Given the description of an element on the screen output the (x, y) to click on. 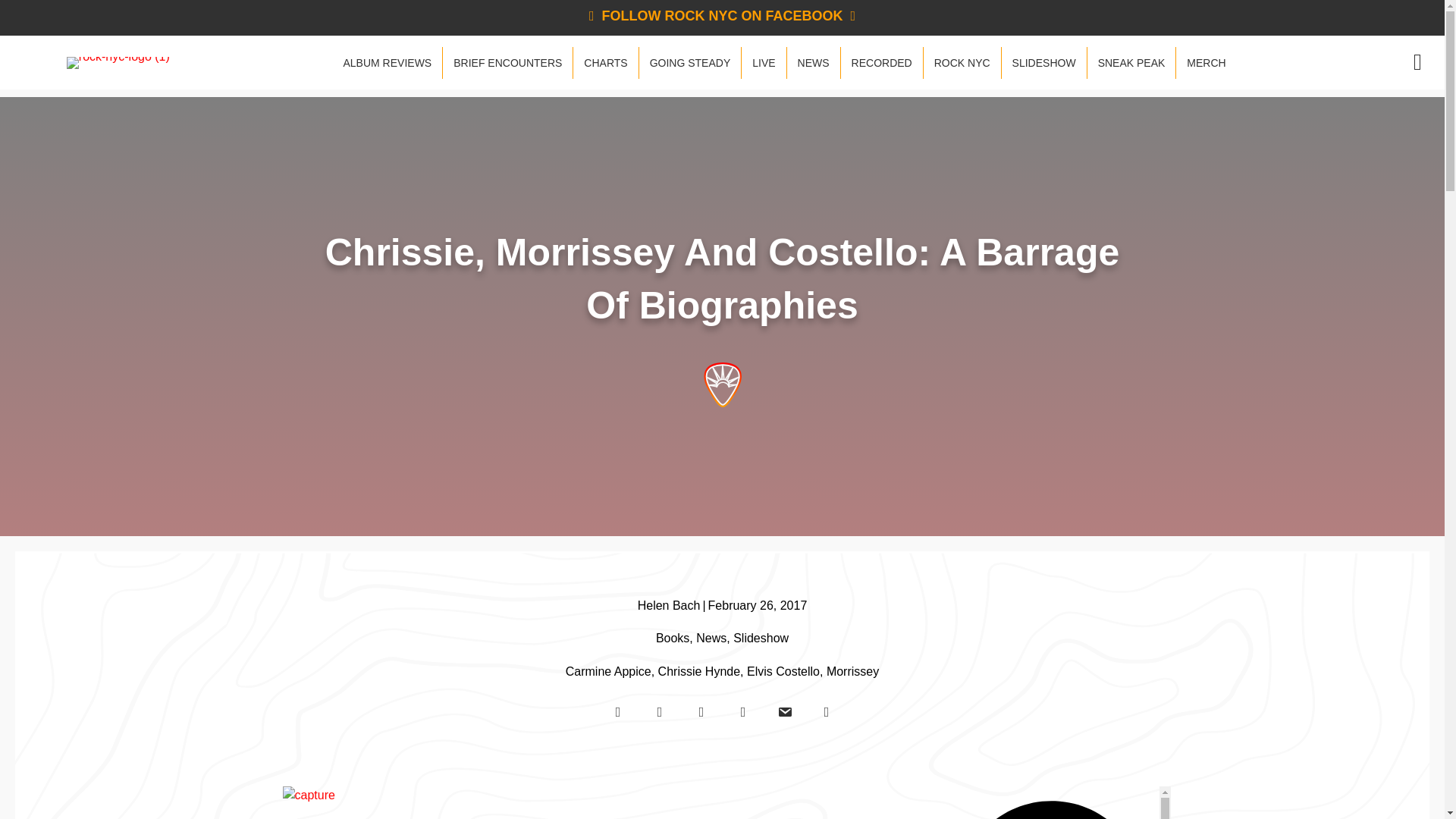
Books (672, 637)
Carmine Appice (608, 671)
Slideshow (761, 637)
ALBUM REVIEWS (386, 62)
GOING STEADY (690, 62)
CHARTS (605, 62)
MERCH (1206, 62)
RECORDED (882, 62)
 FOLLOW ROCK NYC ON FACEBOOK   (722, 15)
NEWS (813, 62)
